Given the description of an element on the screen output the (x, y) to click on. 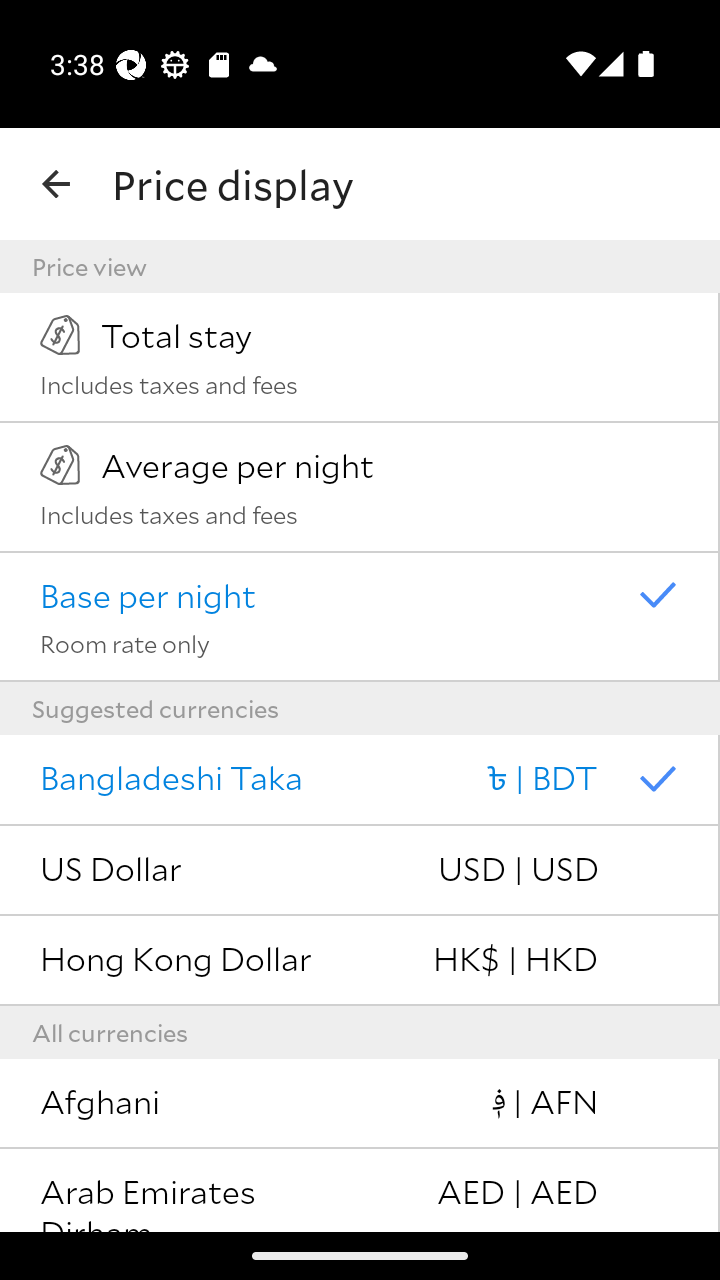
navigation_button (56, 184)
Average per night Includes taxes and fees (360, 487)
Base per night Room rate only (360, 617)
Bangladeshi Taka ৳ | BDT (360, 779)
US Dollar USD | USD (360, 870)
Hong Kong Dollar HK$ | HKD (360, 961)
Afghani ‎؋ | AFN (360, 1103)
Arab Emirates Dirham AED | AED (360, 1190)
